Given the description of an element on the screen output the (x, y) to click on. 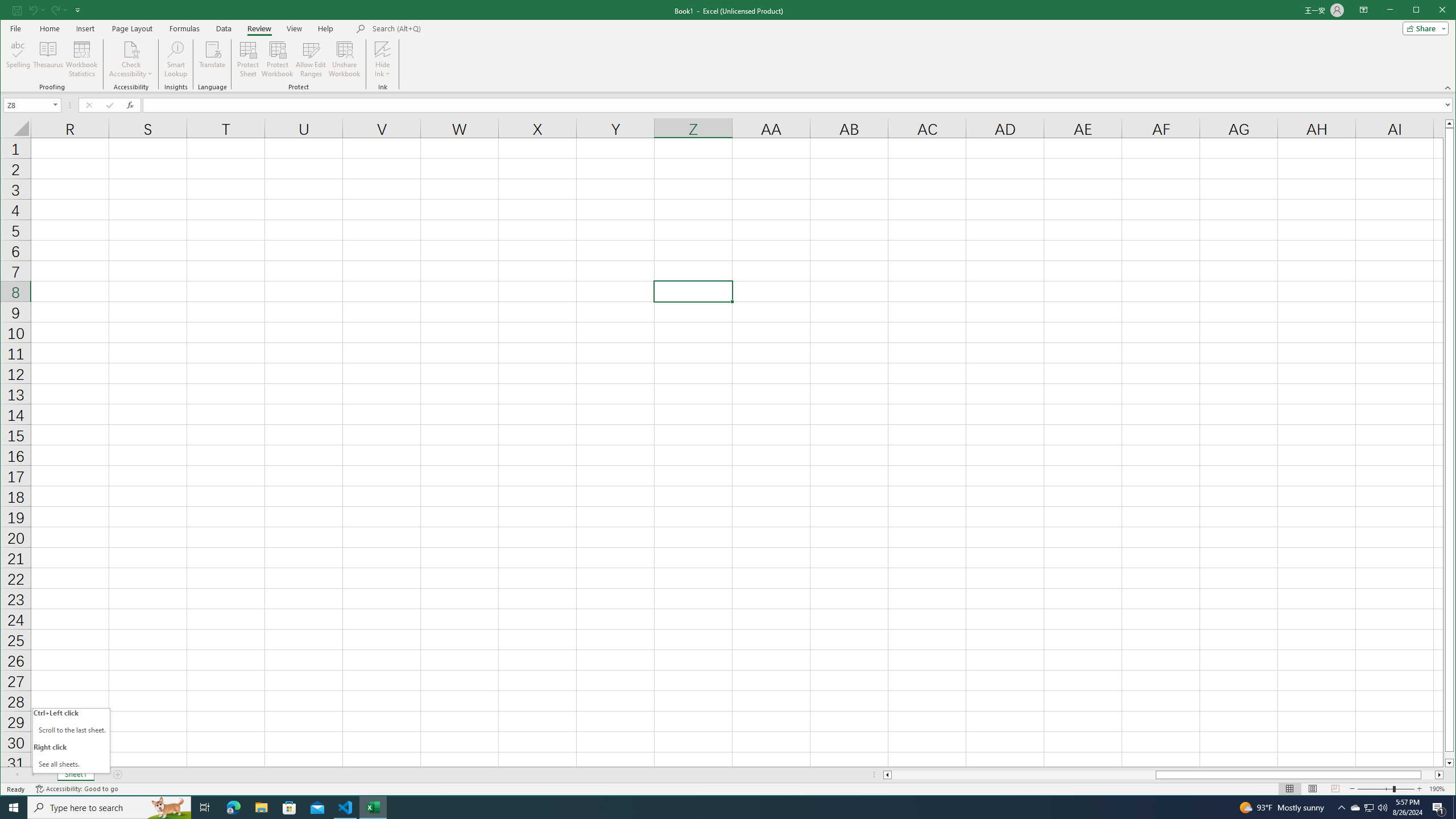
Q2790: 100% (1382, 807)
Hide Ink (382, 59)
Show desktop (1454, 807)
Action Center, 1 new notification (1439, 807)
Workbook Statistics (82, 59)
Protect Sheet... (247, 59)
